Given the description of an element on the screen output the (x, y) to click on. 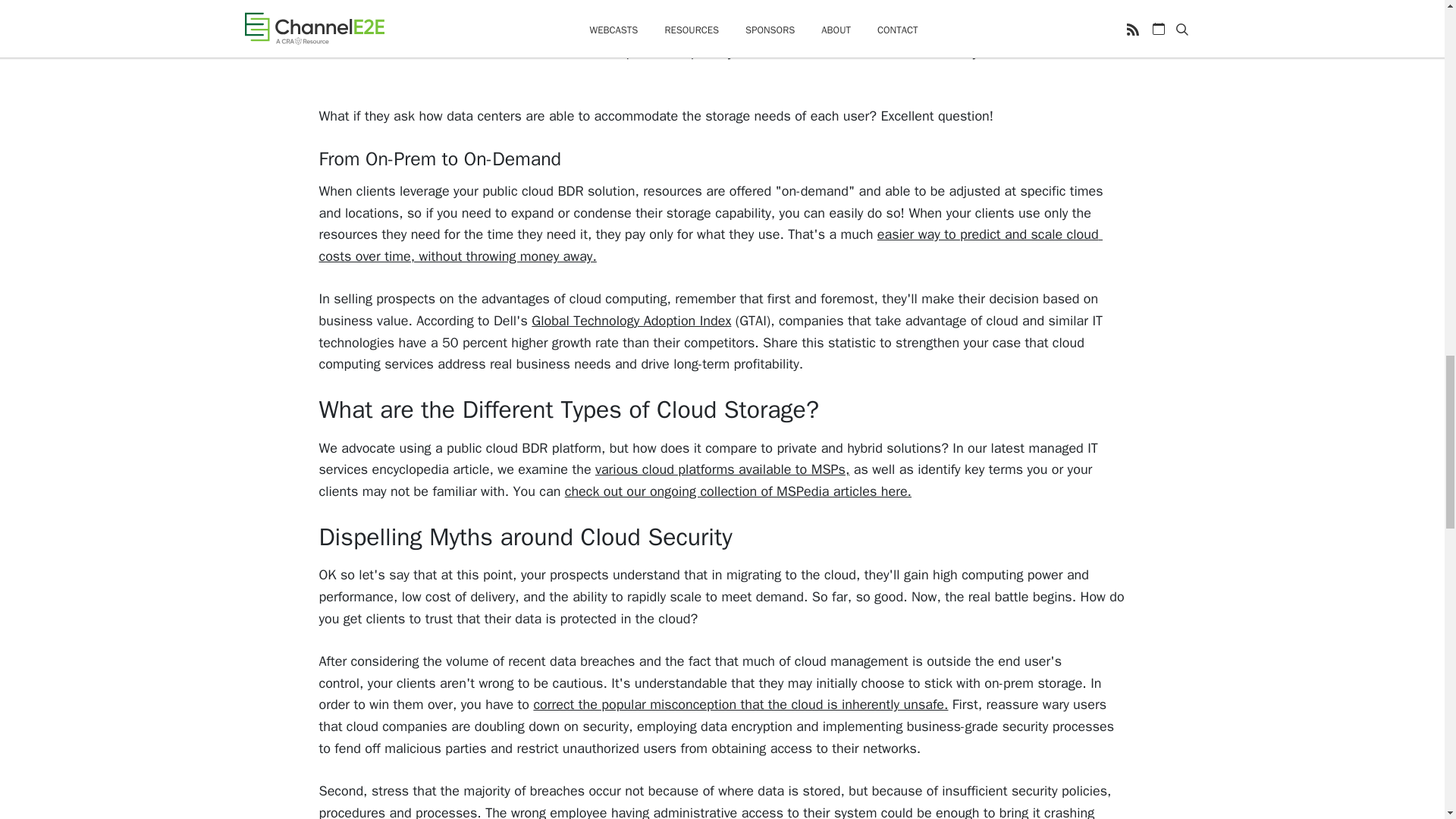
Global Technology Adoption Index (630, 320)
various cloud platforms available to MSPs, (721, 469)
check out our ongoing collection of MSPedia articles here. (737, 491)
